Given the description of an element on the screen output the (x, y) to click on. 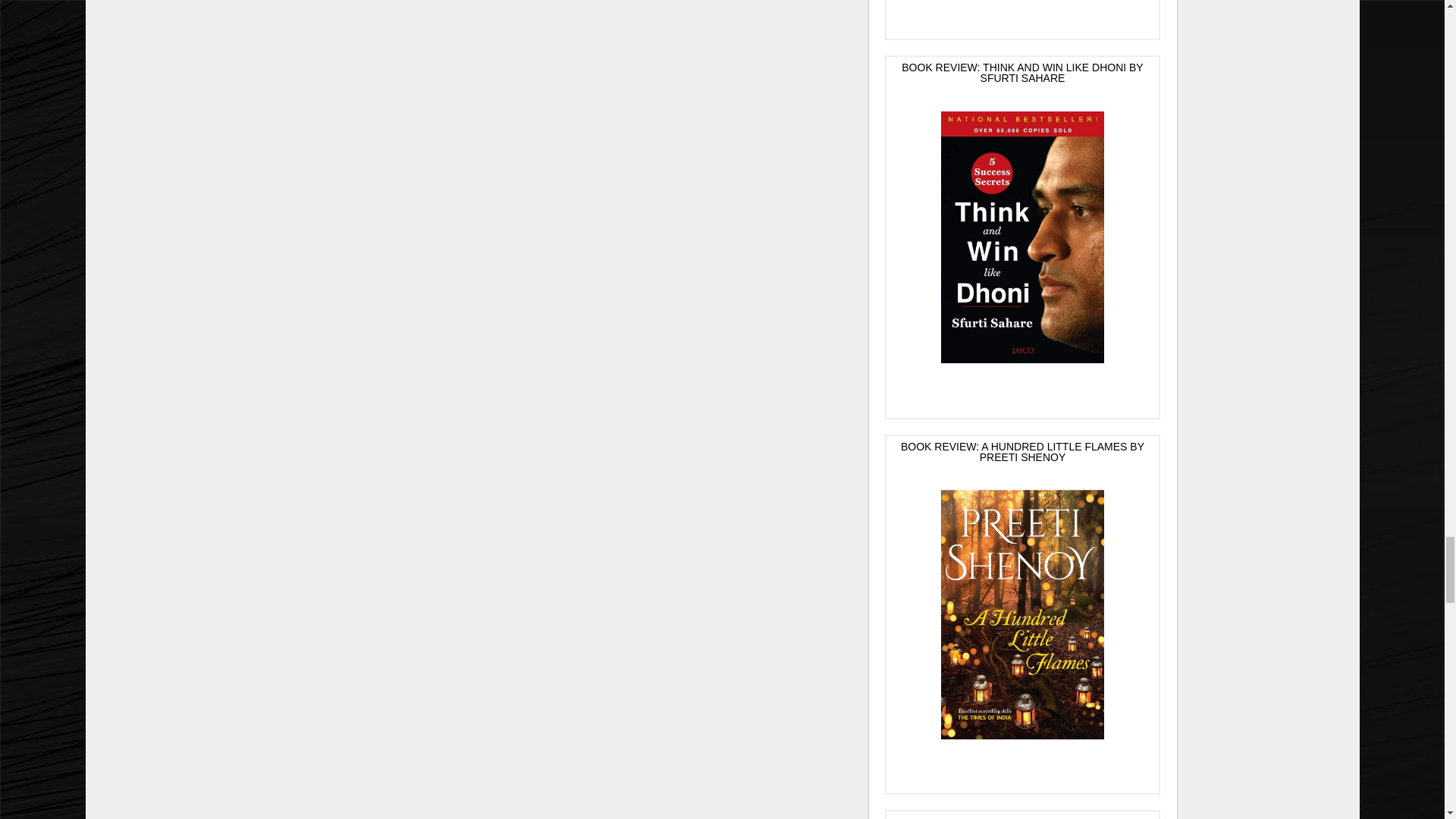
NOSTALGIC NOTES: A GALLERY OF RASCALS BY RUSKIN BOND (1022, 815)
BOOK REVIEW: NOBODY CAN LOVE YOU MORE BY MAYANK AUSTEN SOOFI (1022, 19)
